Given the description of an element on the screen output the (x, y) to click on. 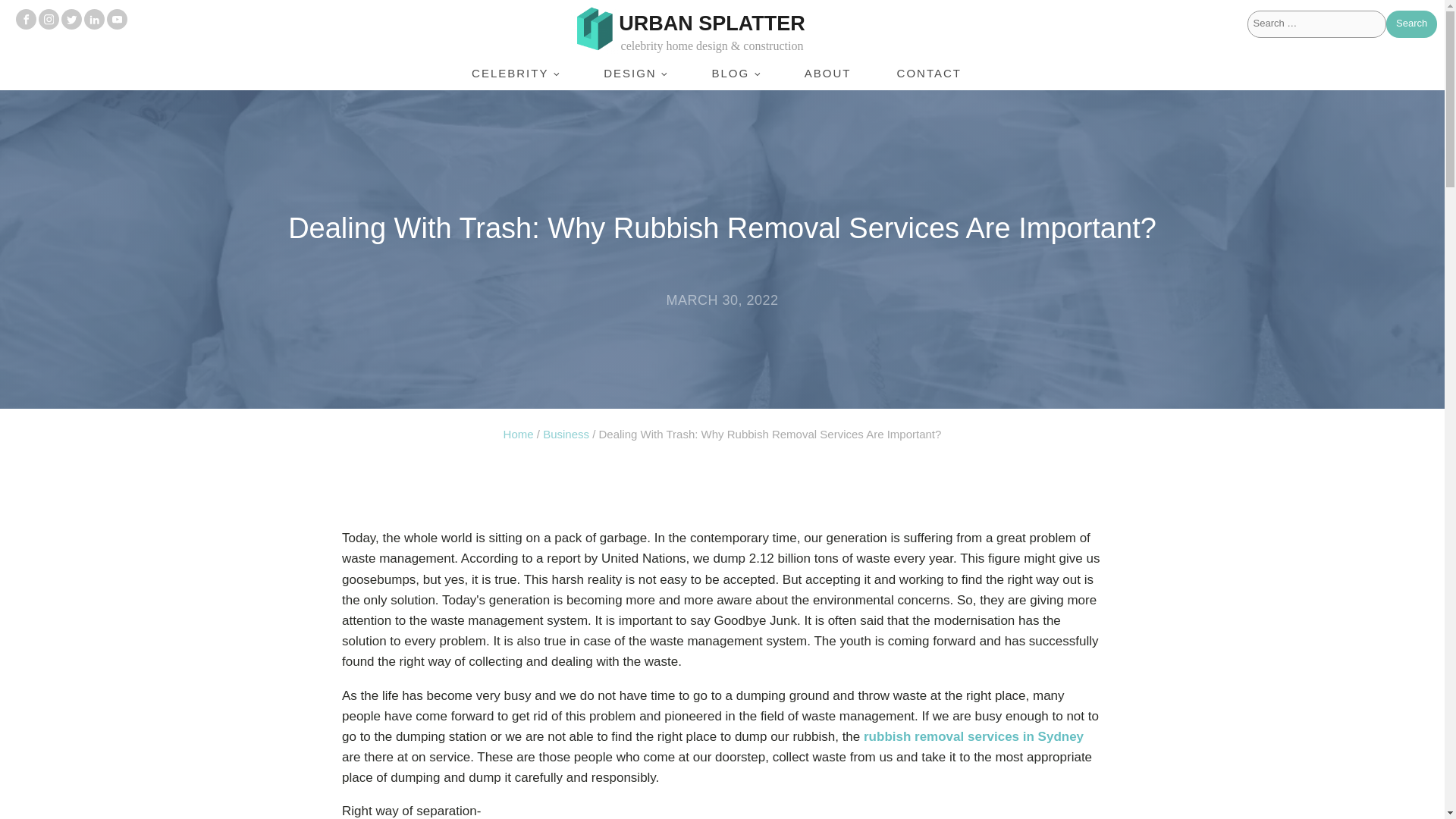
Search (1411, 23)
BLOG (734, 73)
Search (1411, 23)
CELEBRITY (514, 73)
Search (1411, 23)
DESIGN (634, 73)
